Given the description of an element on the screen output the (x, y) to click on. 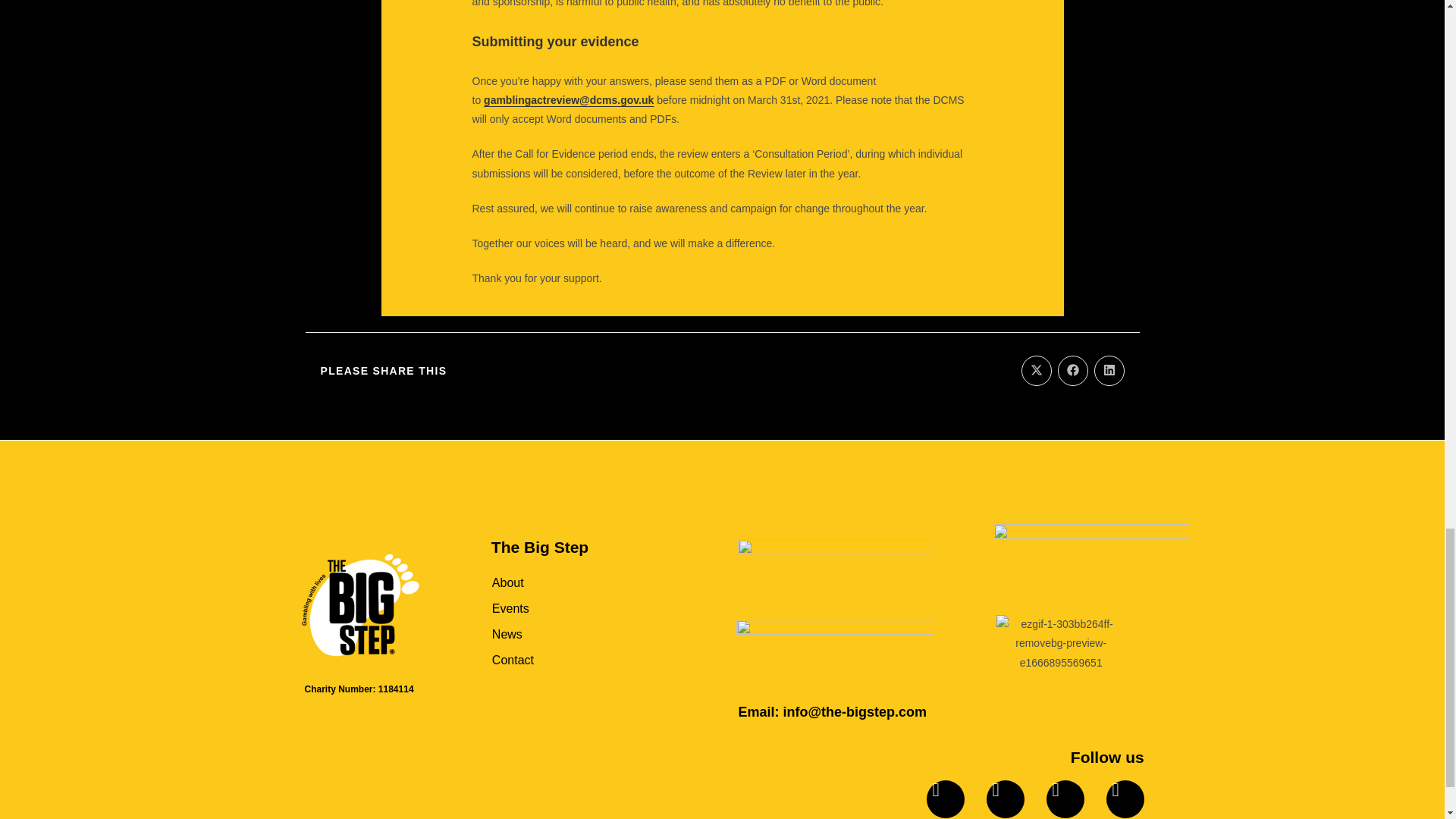
Contact (577, 660)
ezgif-1-303bb264ff-removebg-preview-e1666895569651 (1060, 643)
News (577, 634)
Events (577, 608)
About (577, 583)
